Given the description of an element on the screen output the (x, y) to click on. 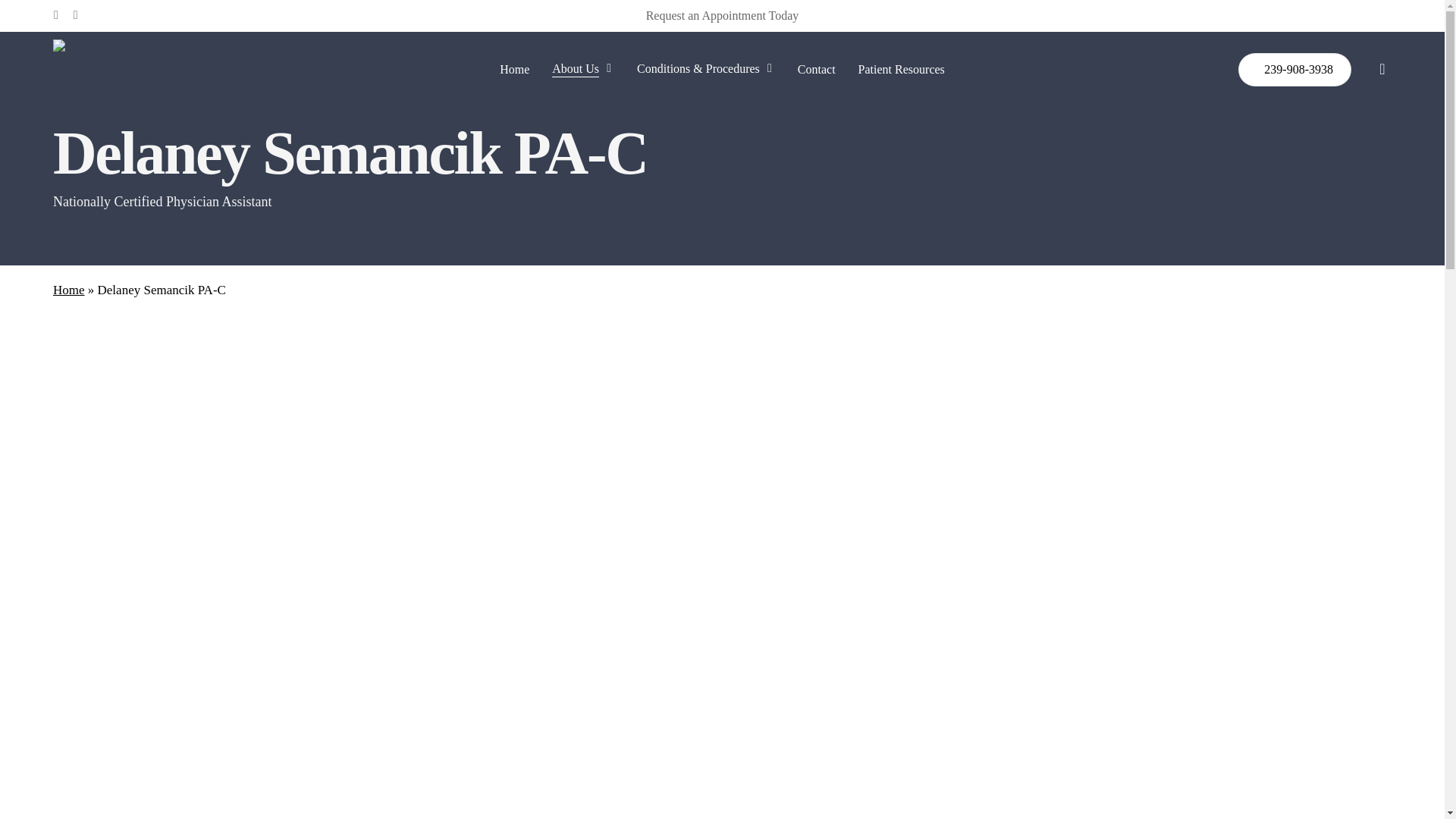
Home (514, 69)
Request an Appointment Today (722, 15)
About Us (582, 69)
